Given the description of an element on the screen output the (x, y) to click on. 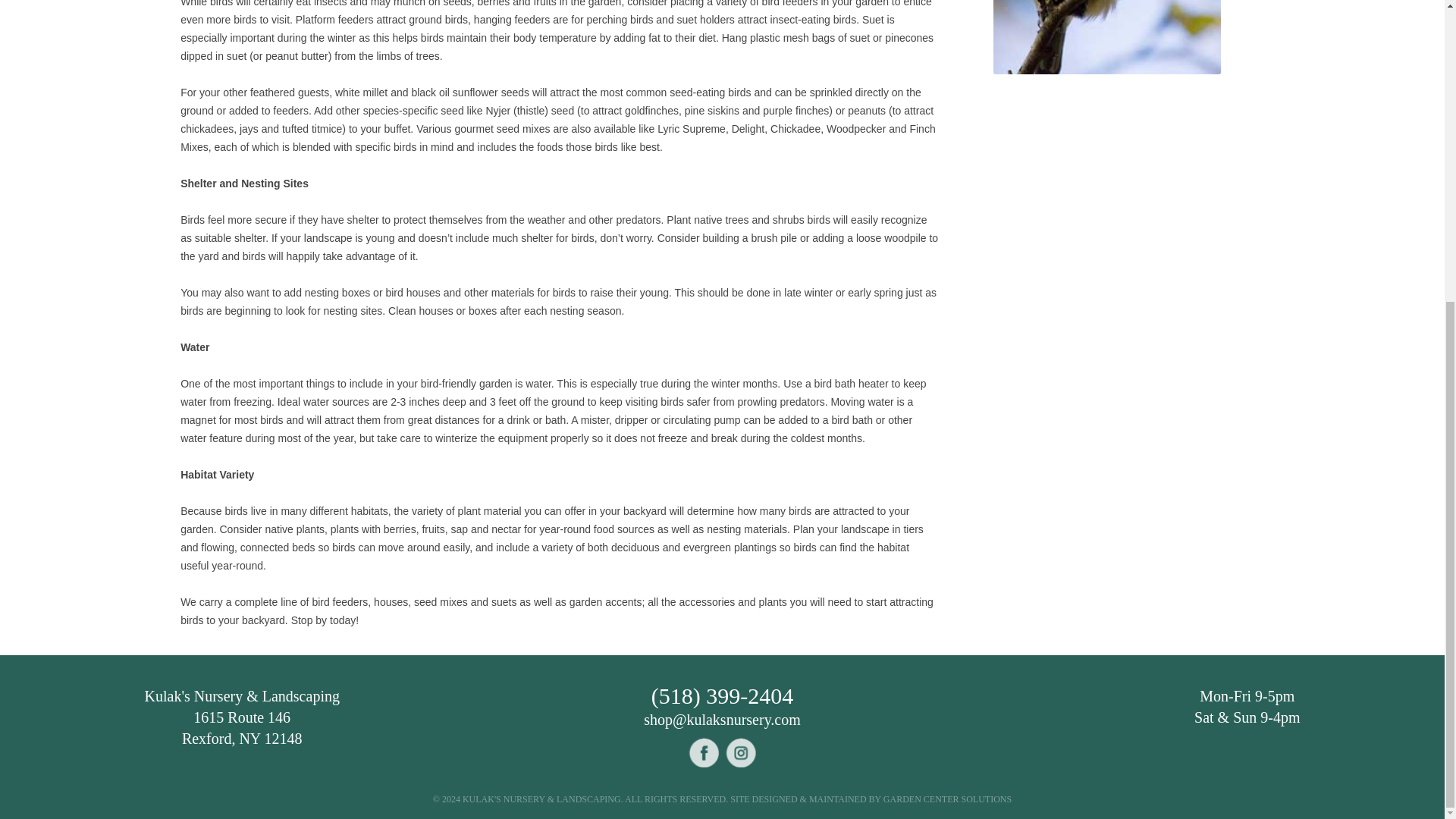
GARDEN CENTER SOLUTIONS (947, 798)
